Given the description of an element on the screen output the (x, y) to click on. 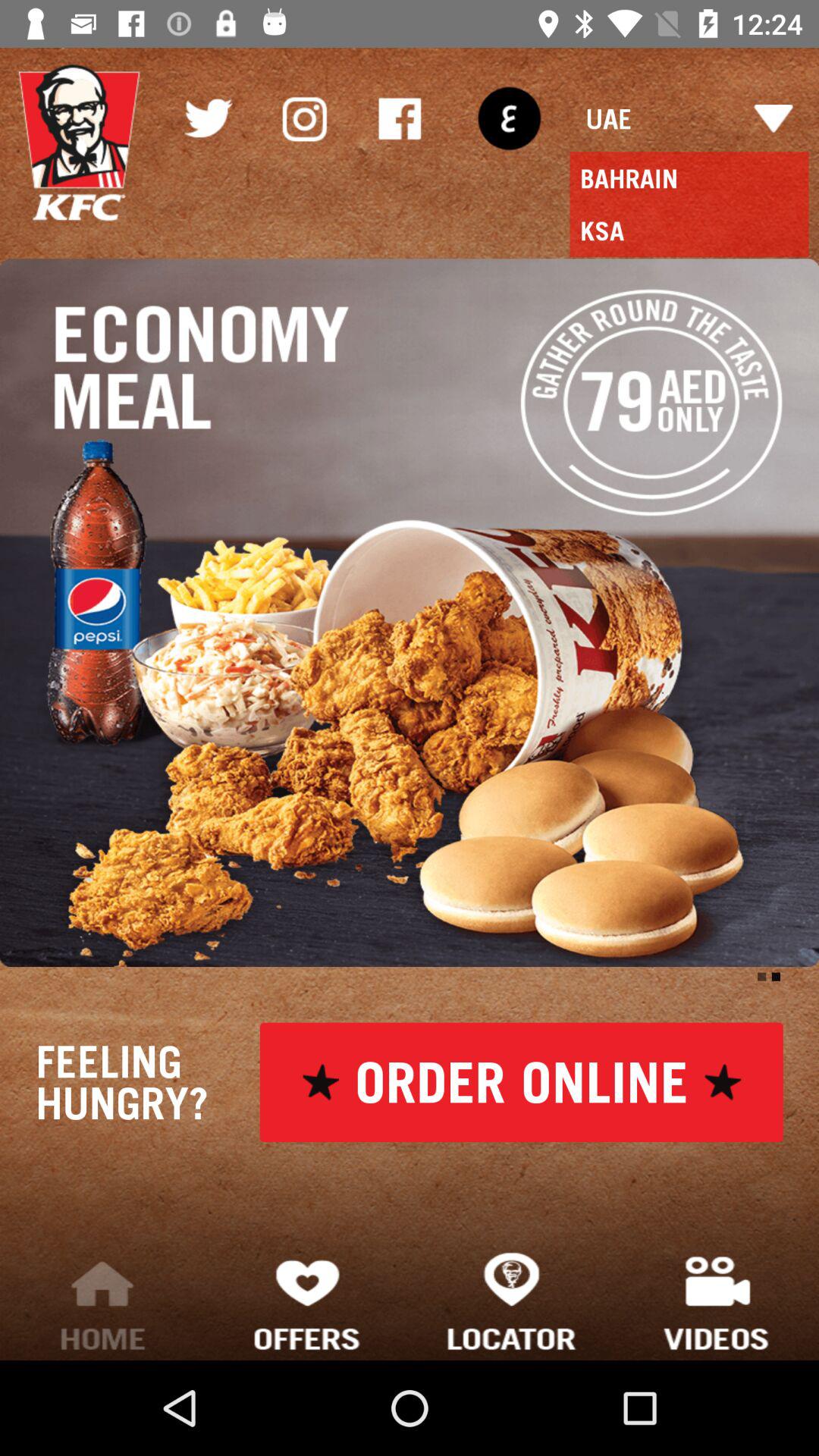
press the item below the hungry? item (102, 1300)
